Given the description of an element on the screen output the (x, y) to click on. 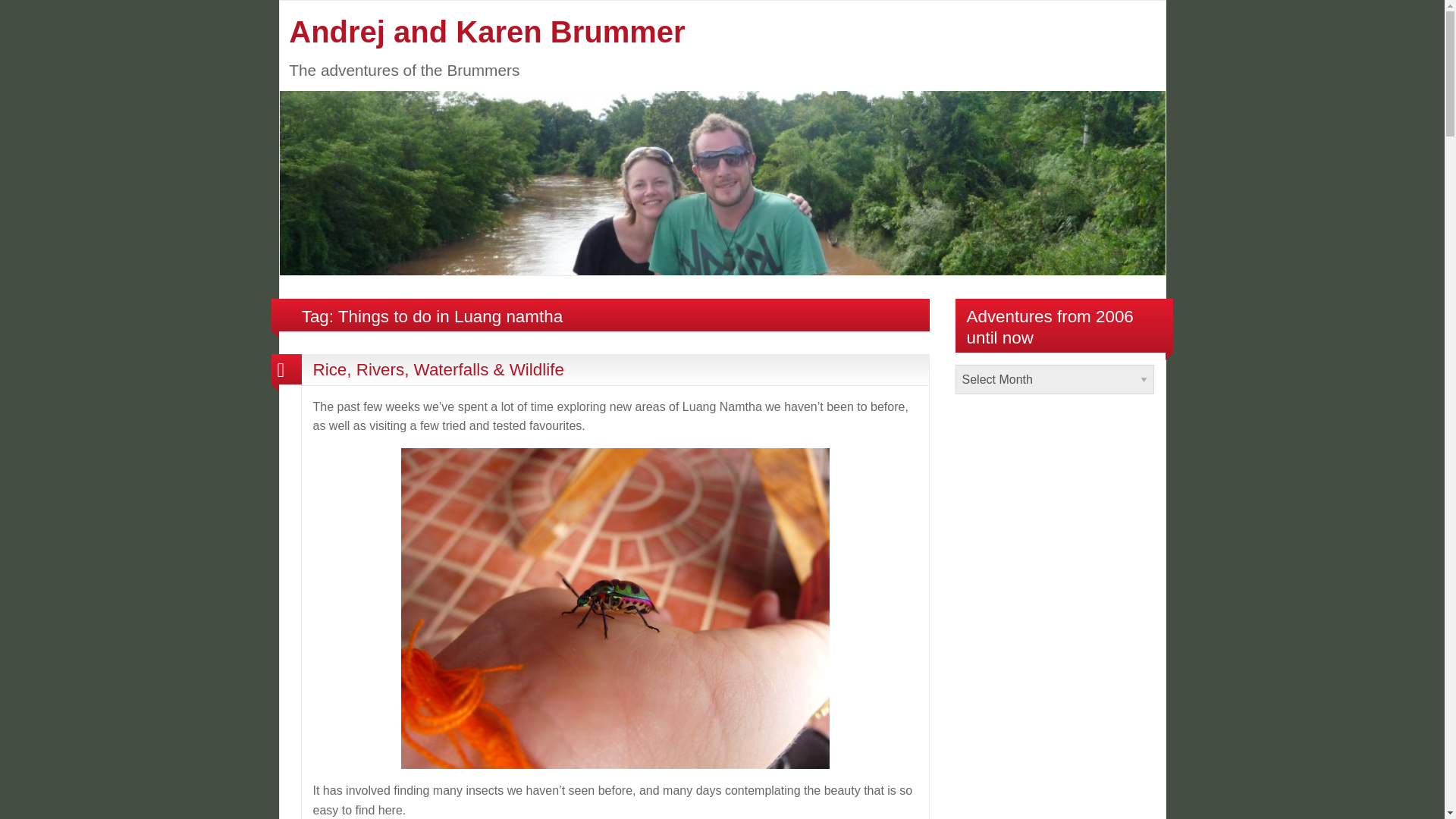
Andrej and Karen Brummer (486, 31)
Andrej and Karen Brummer (721, 182)
